Given the description of an element on the screen output the (x, y) to click on. 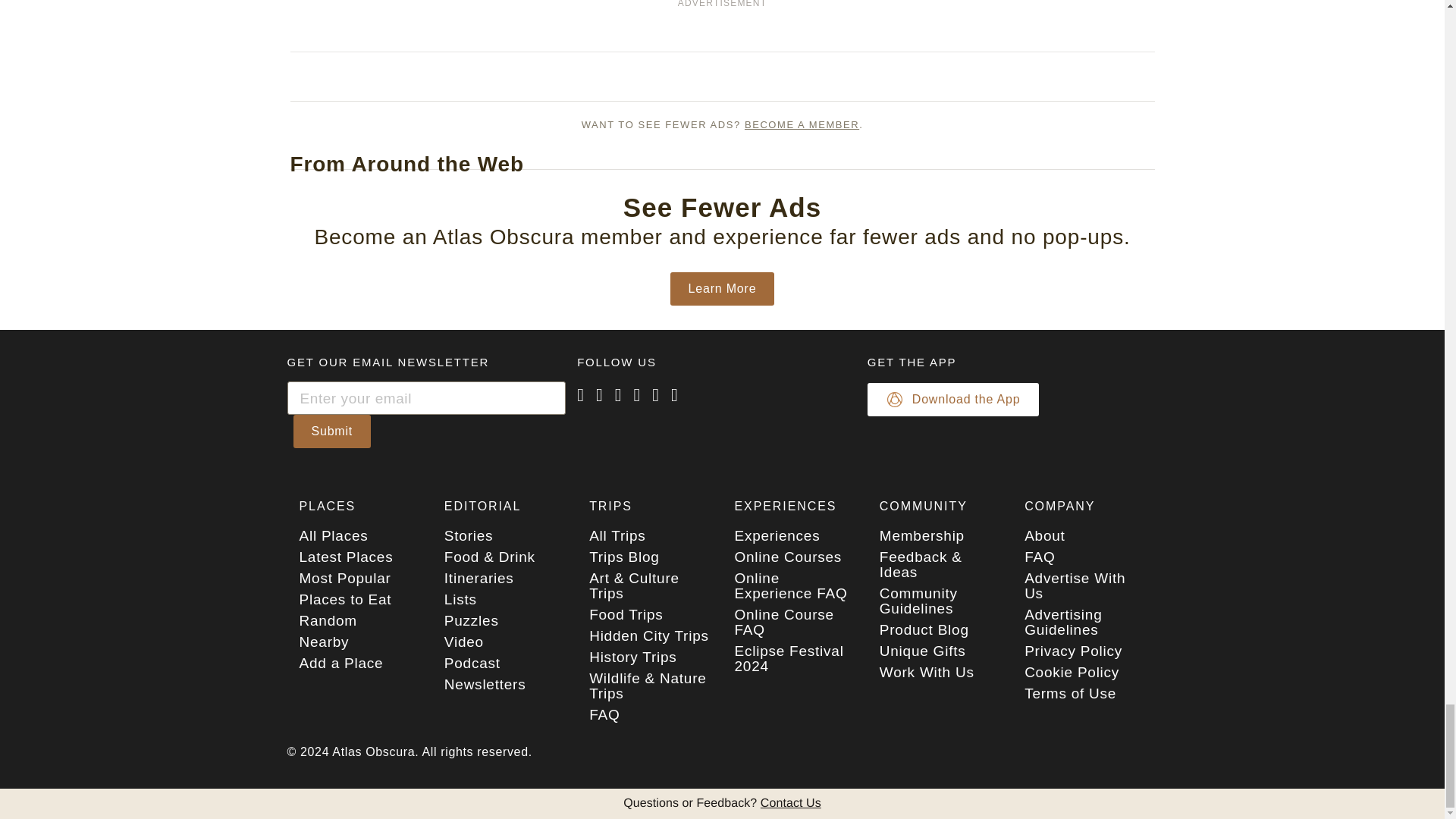
Submit (331, 430)
